Given the description of an element on the screen output the (x, y) to click on. 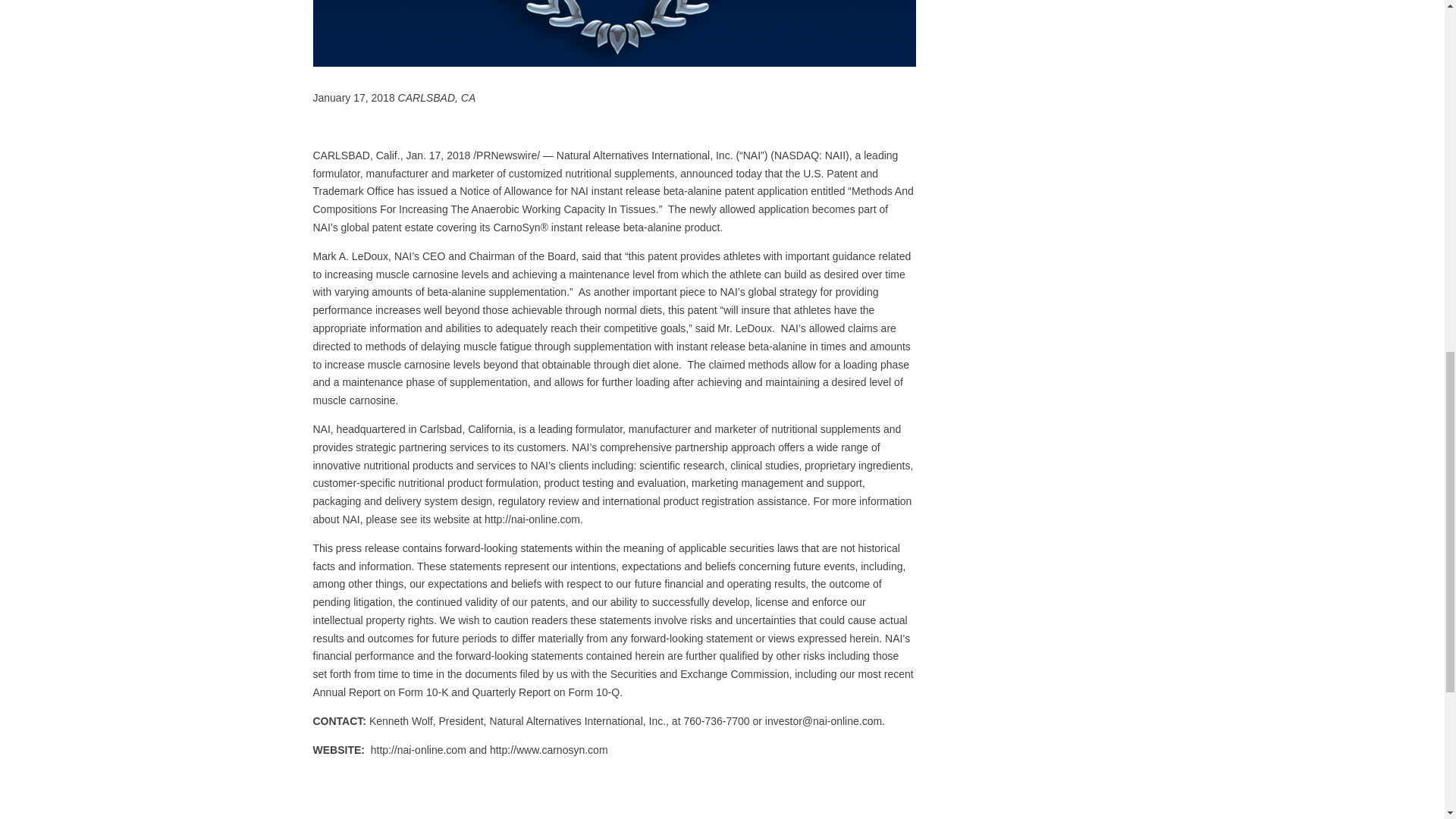
article-NAI4 (614, 33)
